Given the description of an element on the screen output the (x, y) to click on. 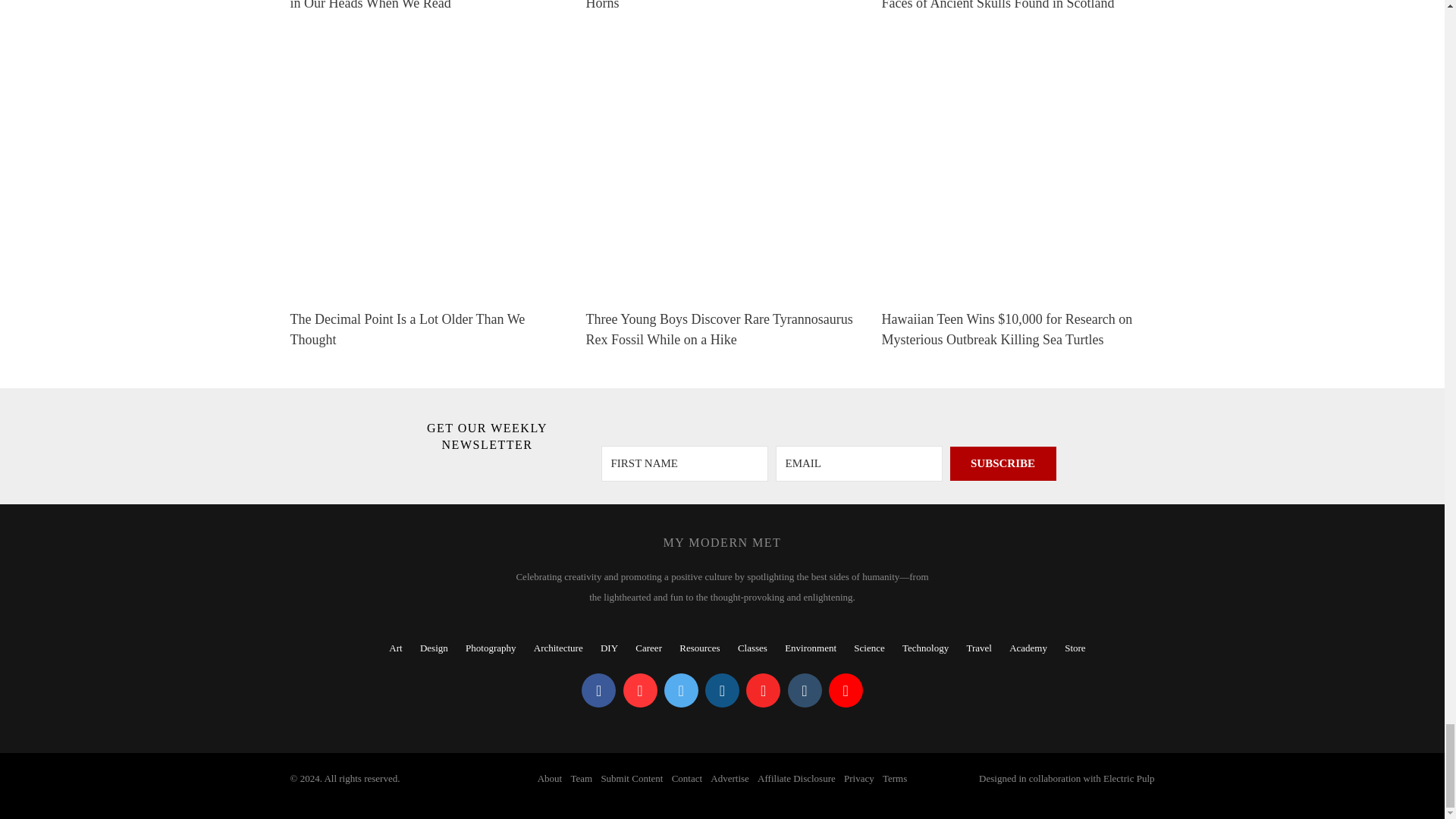
My Modern Met on Facebook (597, 690)
My Modern Met on Instagram (721, 690)
My Modern Met on Twitter (680, 690)
My Modern Met on Pinterest (640, 690)
My Modern Met on Tumblr (804, 690)
My Modern Met on YouTube (845, 690)
